Given the description of an element on the screen output the (x, y) to click on. 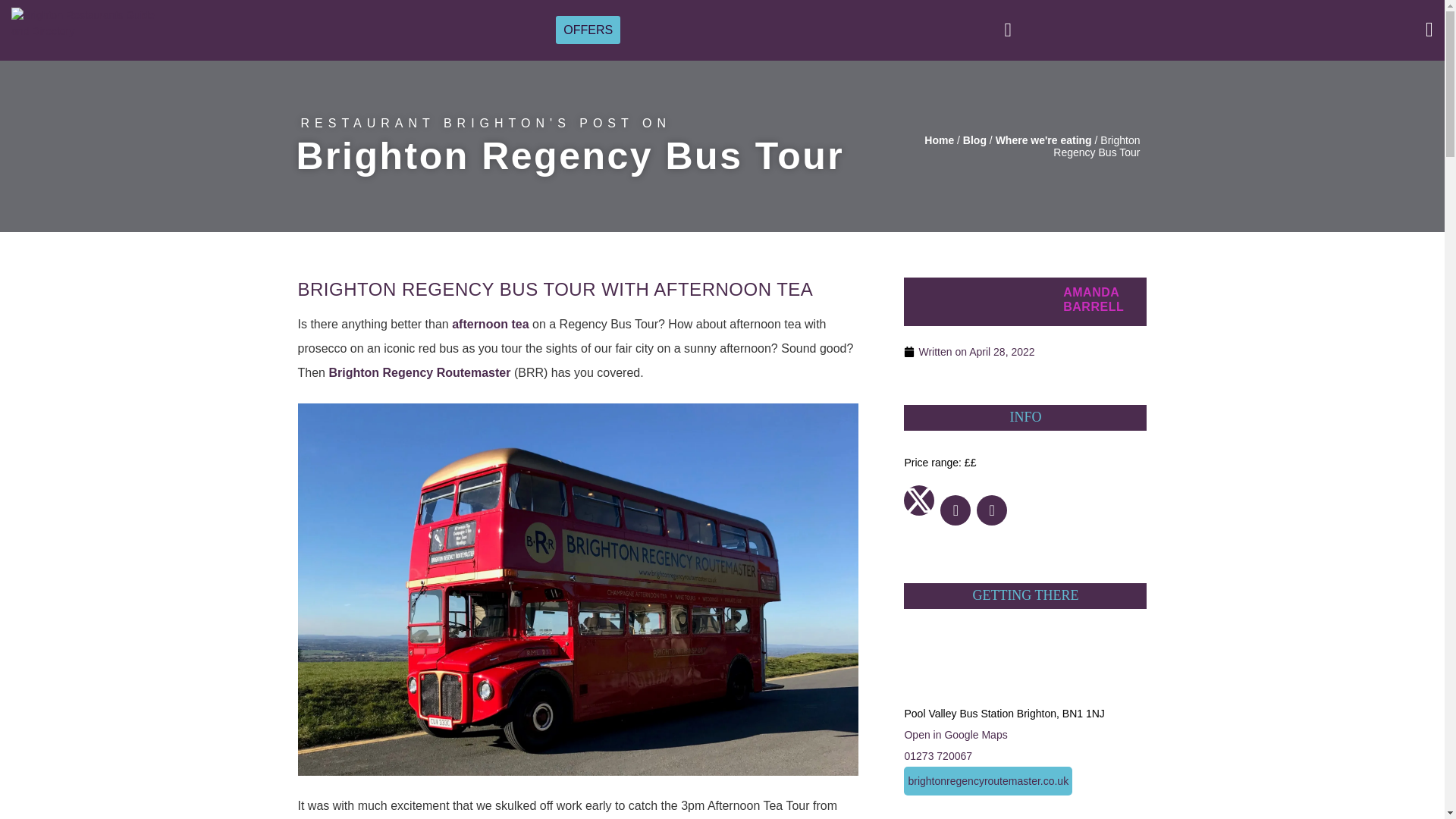
OFFERS (588, 29)
